Given the description of an element on the screen output the (x, y) to click on. 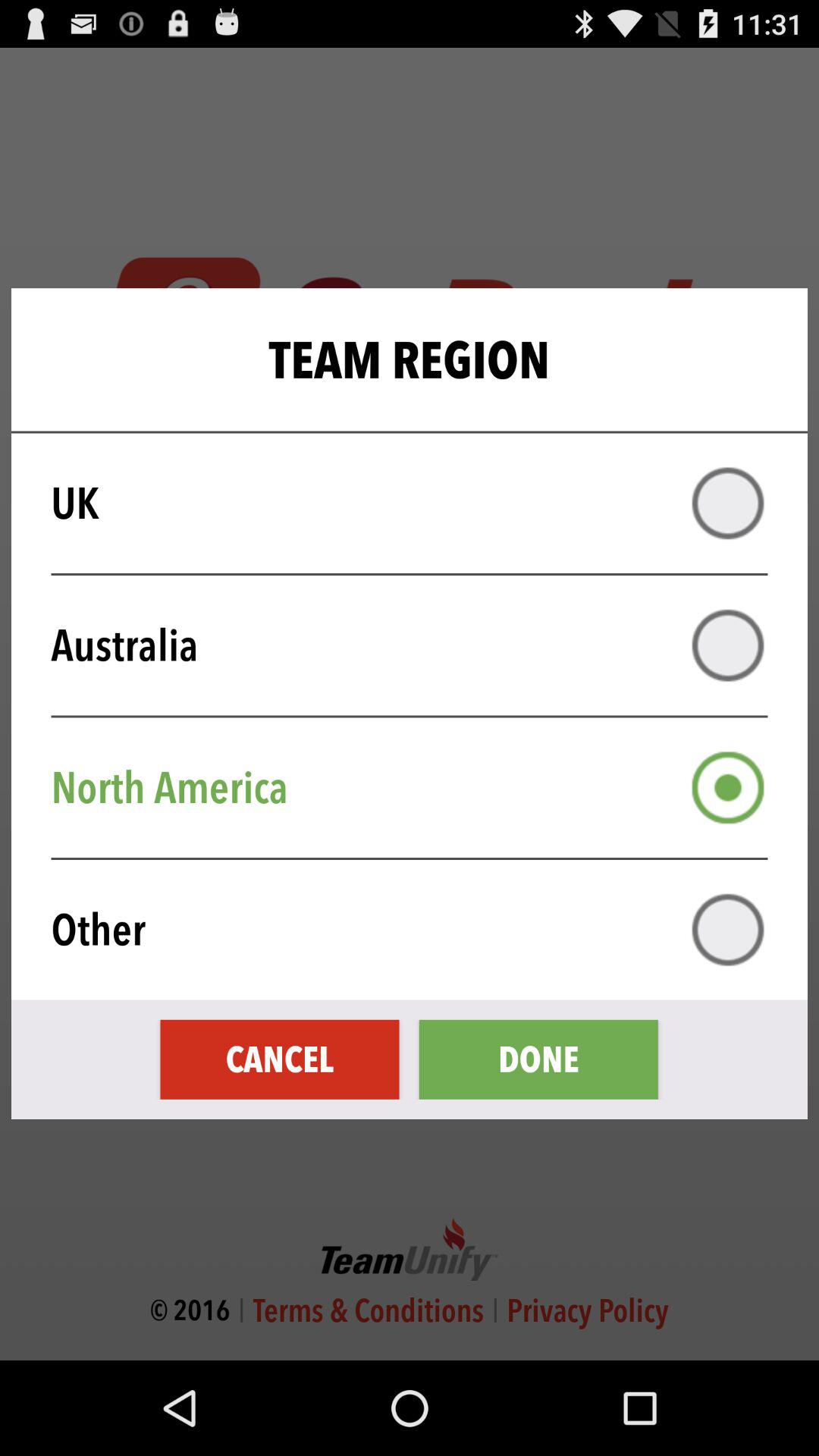
flip to australia (419, 645)
